Given the description of an element on the screen output the (x, y) to click on. 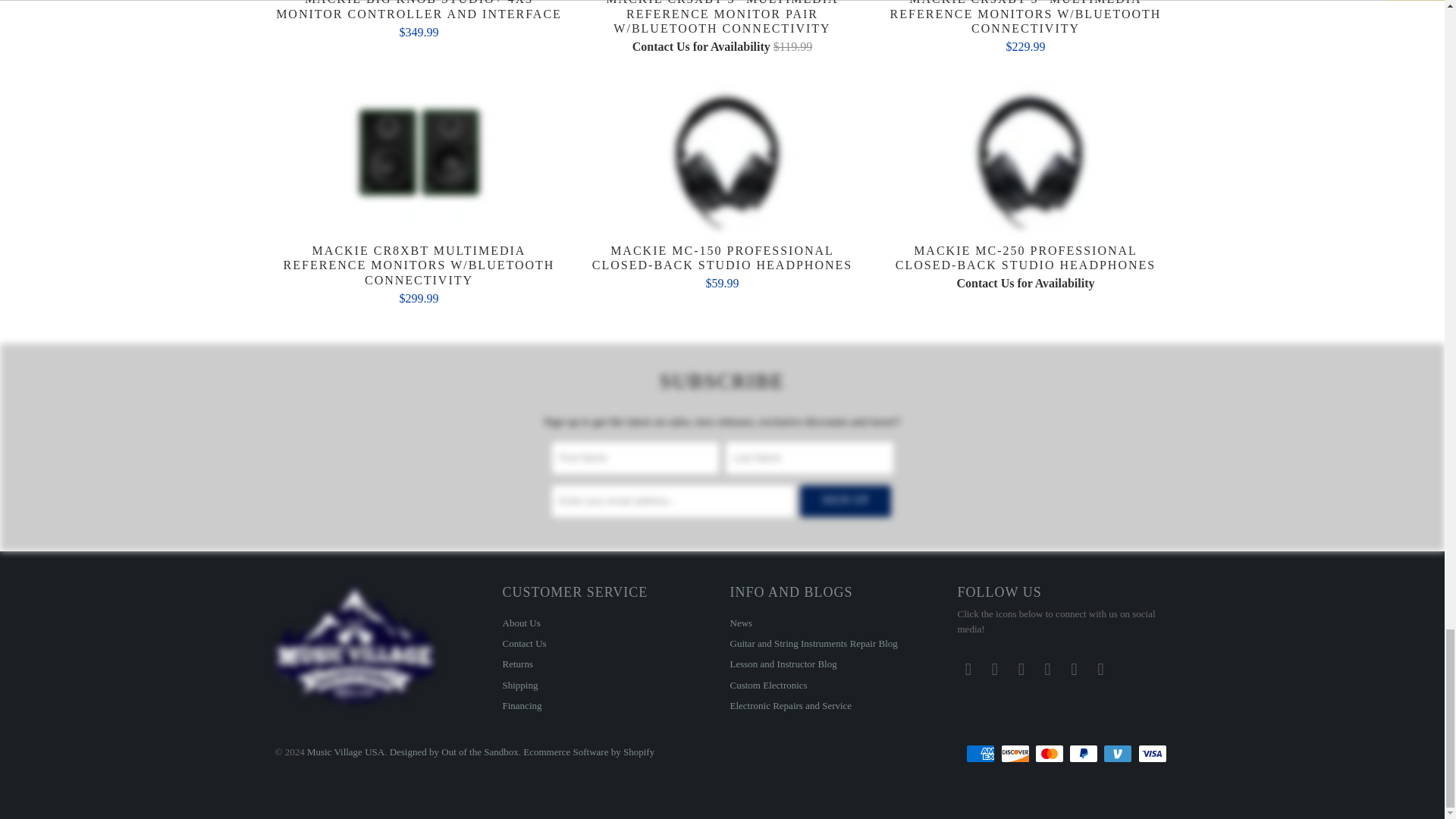
Sign Up (845, 500)
